Given the description of an element on the screen output the (x, y) to click on. 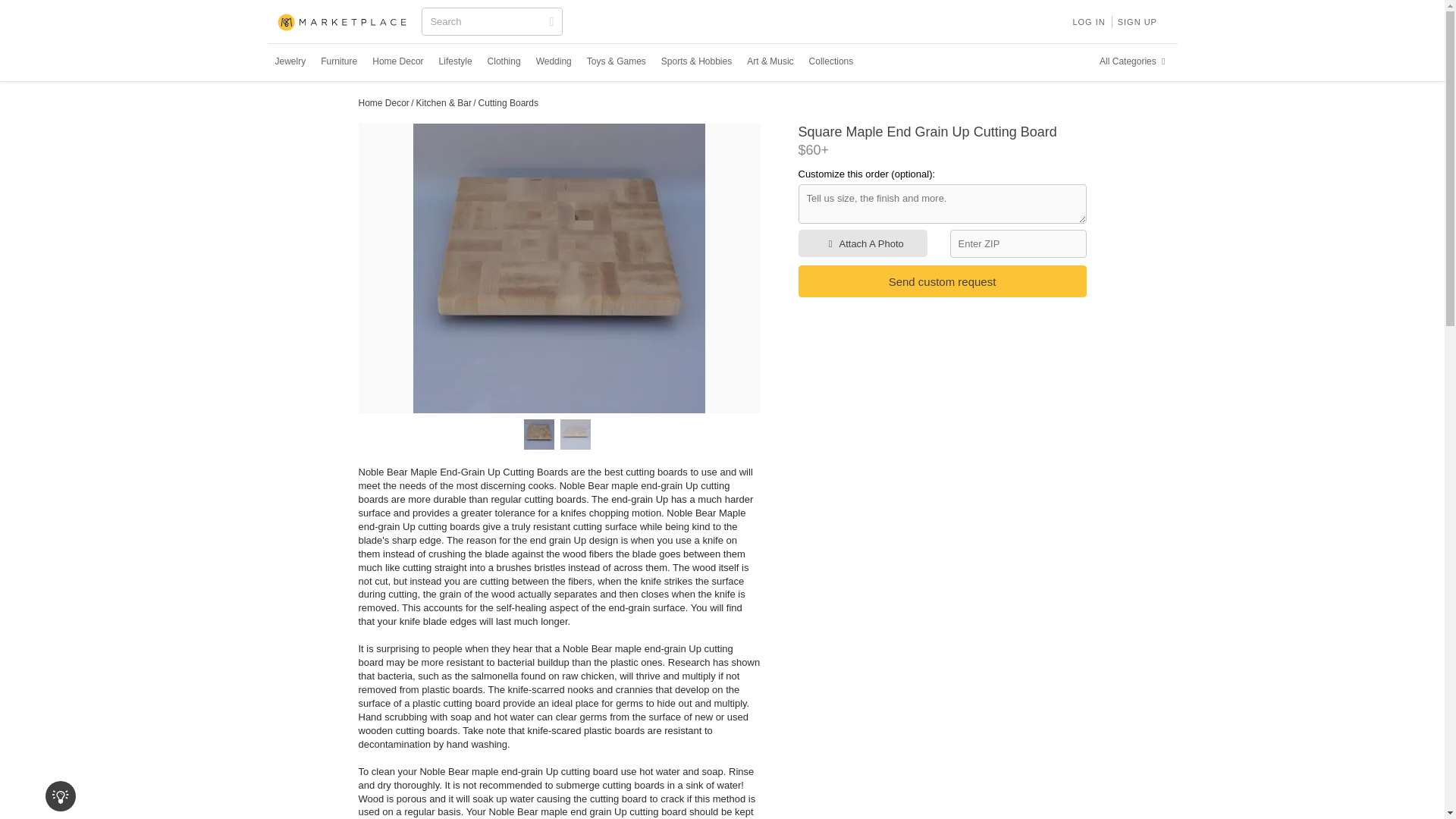
SIGN UP (1137, 21)
All Categories (1134, 61)
Jewelry (289, 61)
Custom Jewelry (289, 61)
CUSTOMMADE (342, 22)
LOG IN (1087, 21)
Log in to CustomMade (1087, 21)
